Given the description of an element on the screen output the (x, y) to click on. 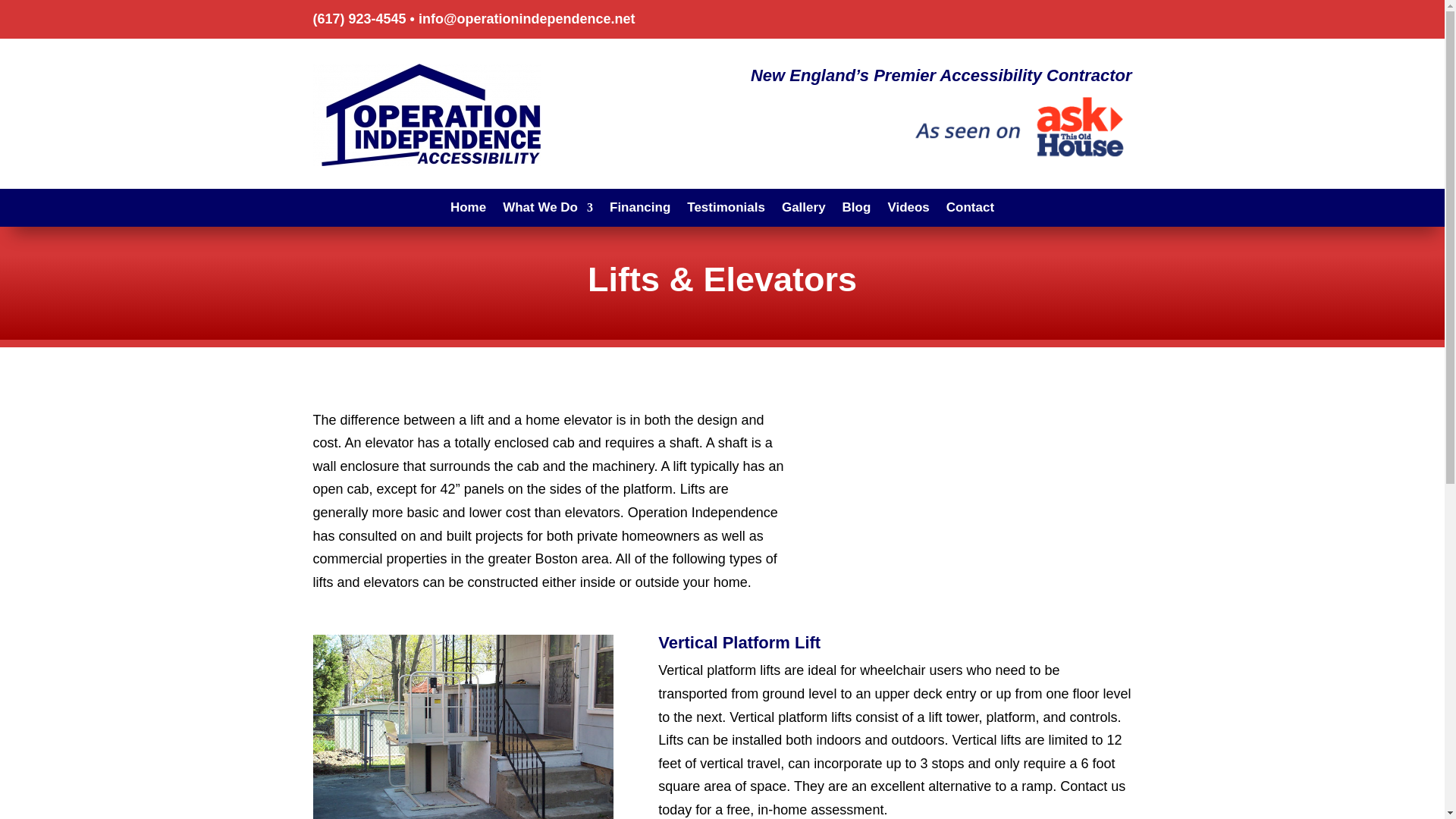
Contact (970, 210)
What We Do (547, 210)
Videos (907, 210)
old-house (1017, 124)
Gallery (803, 210)
Home (467, 210)
Blog (856, 210)
Testimonials (726, 210)
lift (462, 726)
Financing (639, 210)
logo (426, 114)
